Given the description of an element on the screen output the (x, y) to click on. 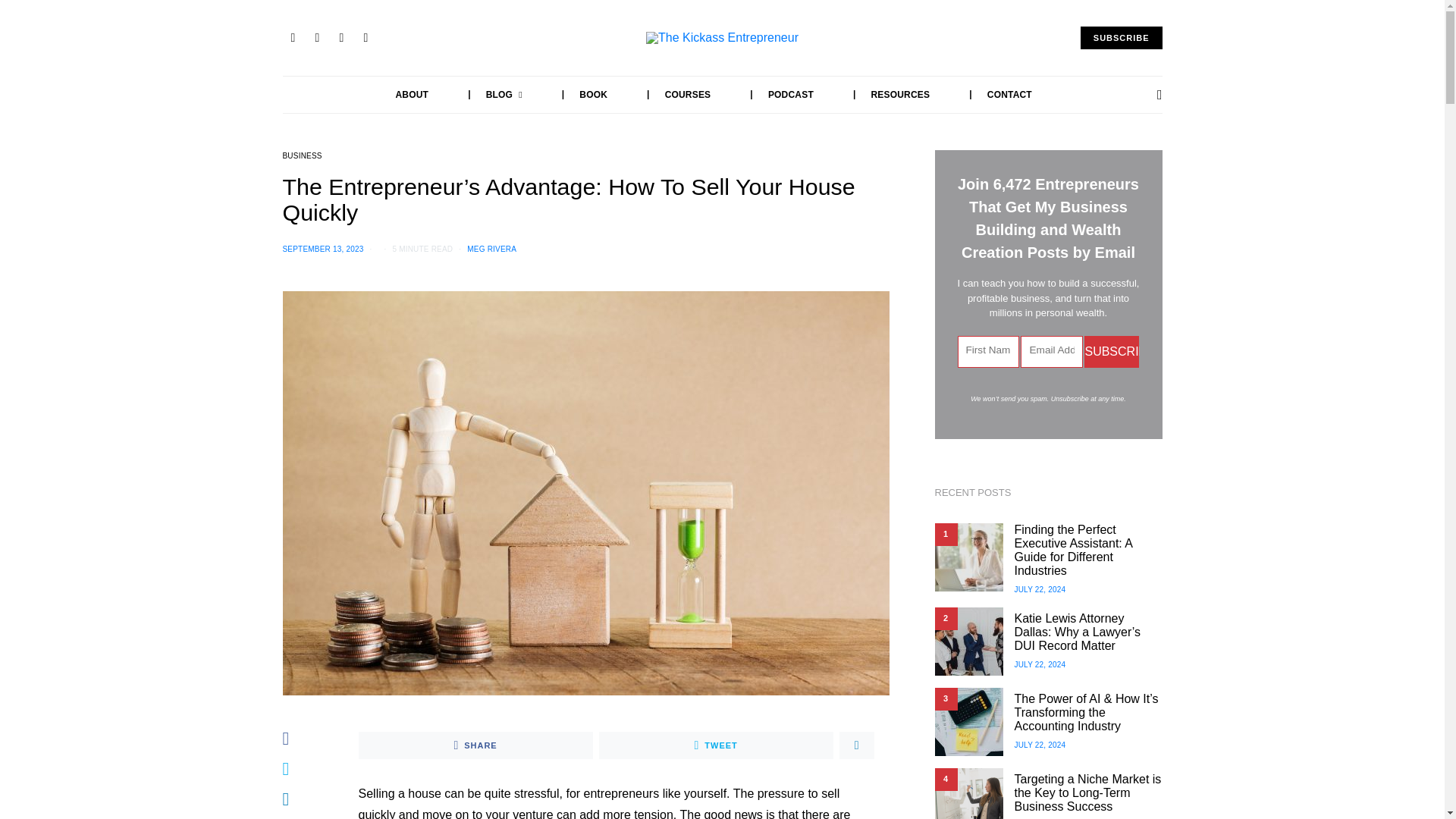
ABOUT (412, 94)
SUBSCRIBE (1120, 37)
BLOG (487, 94)
View all posts by Meg Rivera (491, 248)
